Given the description of an element on the screen output the (x, y) to click on. 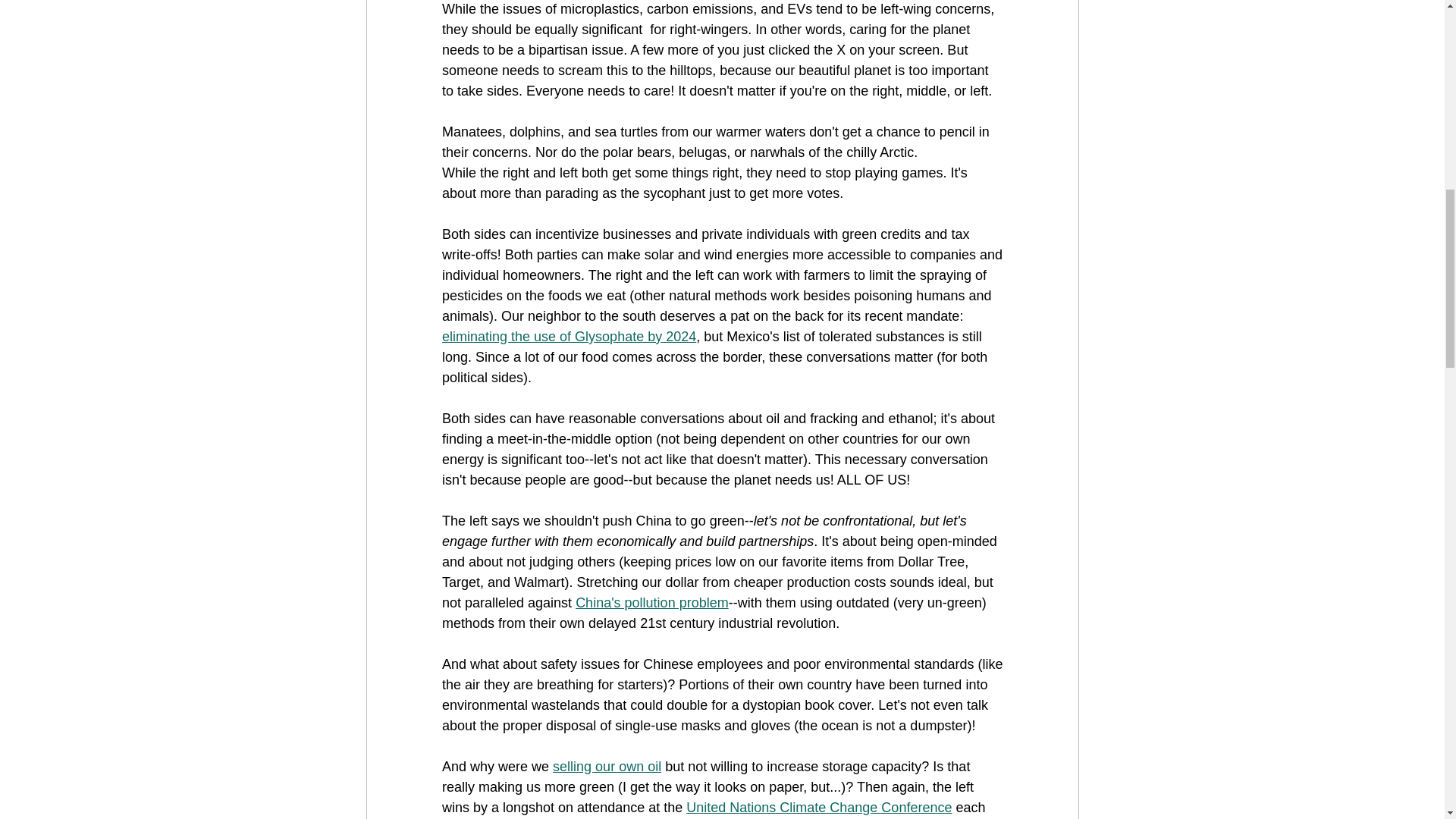
United Nations Climate Change Conference (818, 807)
selling our own oil (607, 766)
eliminating the use of Glysophate by 2024 (568, 336)
China's pollution problem (652, 602)
